Given the description of an element on the screen output the (x, y) to click on. 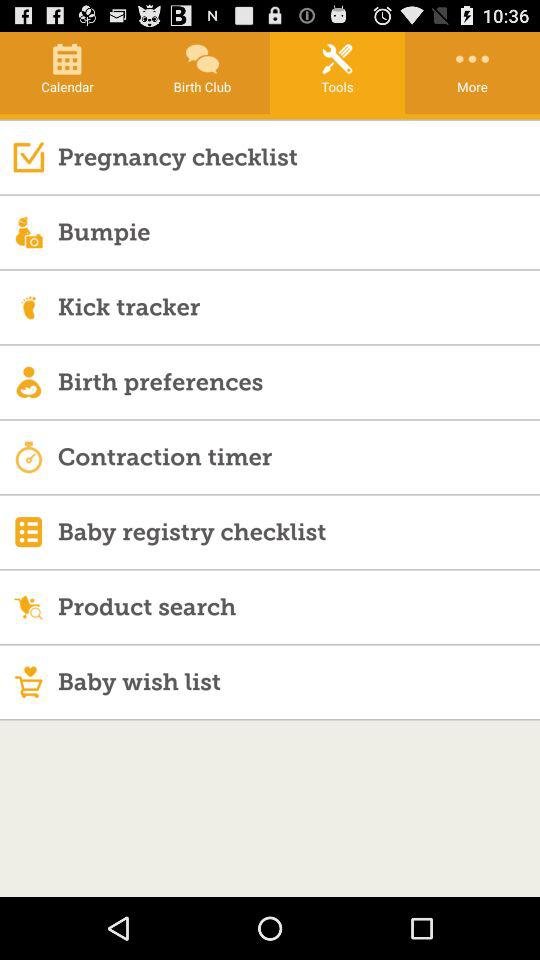
tap the bumpie (298, 231)
